Given the description of an element on the screen output the (x, y) to click on. 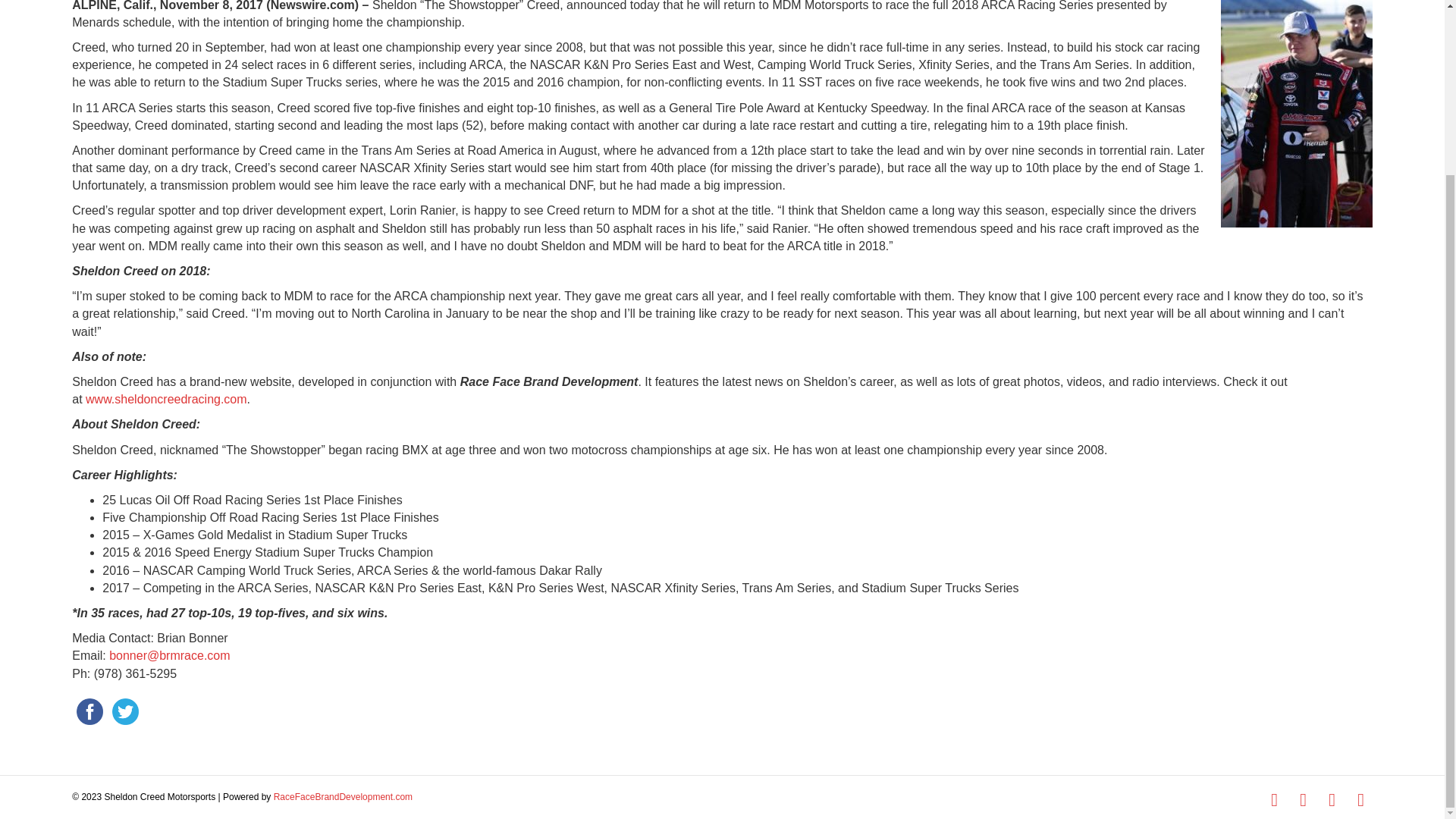
Instagram (1331, 800)
Facebook (1274, 800)
twitter (124, 711)
RaceFaceBrandDevelopment.com (342, 796)
Twitter (1303, 800)
www.sheldoncreedracing.com (166, 399)
facebook (89, 711)
Email (1361, 800)
